Given the description of an element on the screen output the (x, y) to click on. 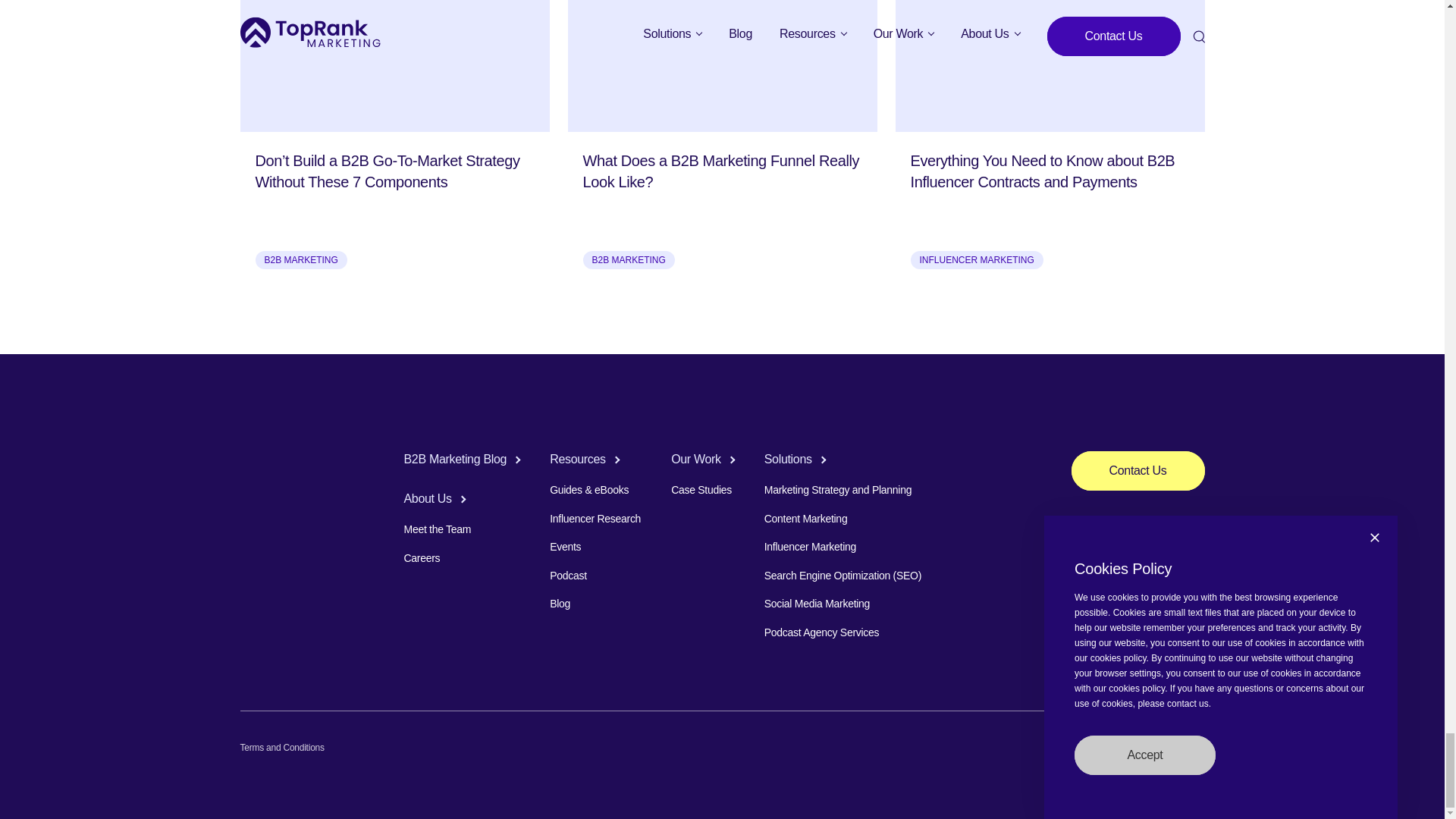
TopRankMarketing logo (287, 461)
